Given the description of an element on the screen output the (x, y) to click on. 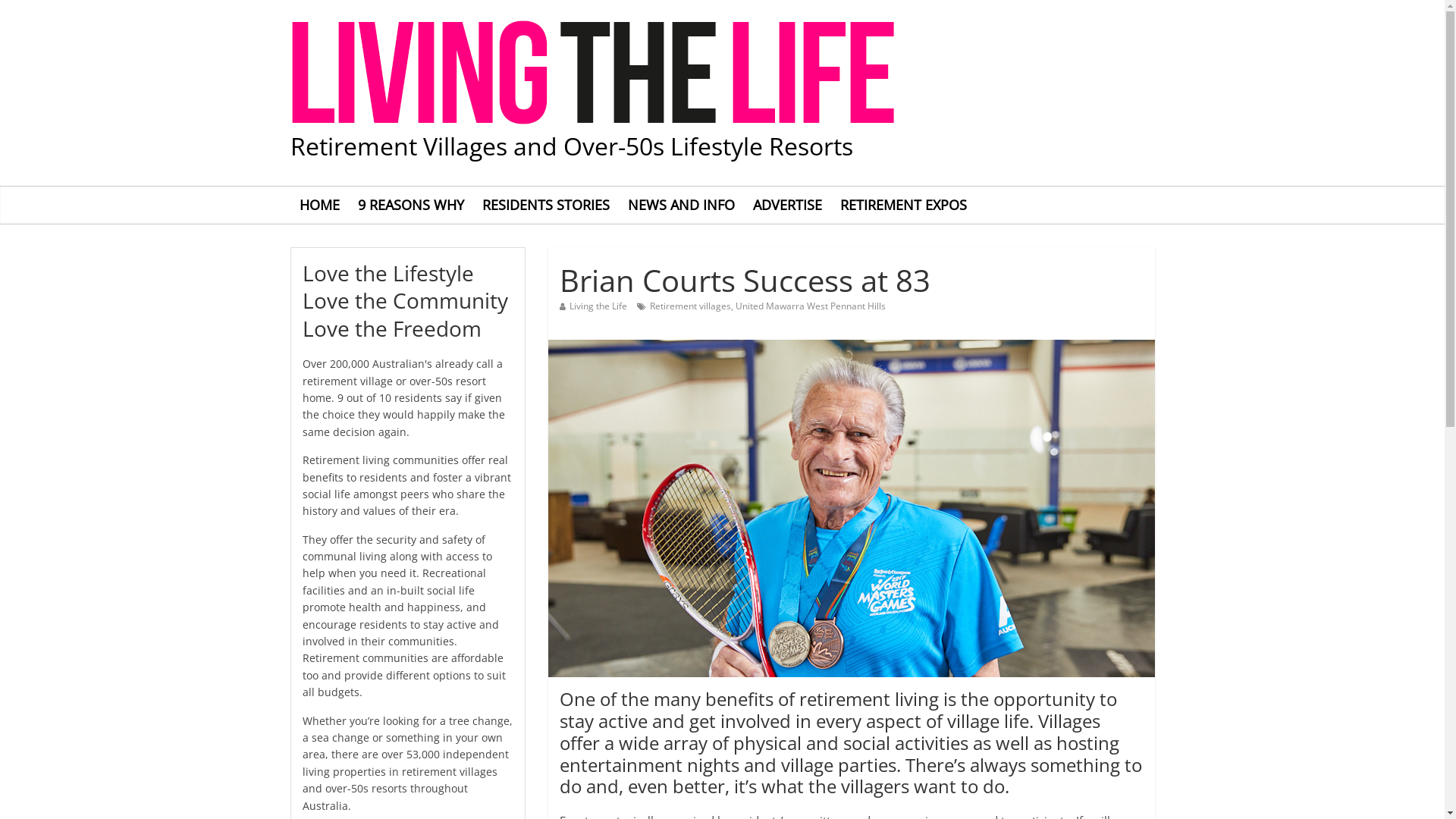
United Mawarra West Pennant Hills Element type: text (810, 305)
HOME Element type: text (318, 204)
ADVERTISE Element type: text (786, 204)
RETIREMENT EXPOS Element type: text (903, 204)
RESIDENTS STORIES Element type: text (545, 204)
Retirement villages Element type: text (689, 305)
NEWS AND INFO Element type: text (680, 204)
9 REASONS WHY Element type: text (410, 204)
Living the Life Element type: text (597, 305)
